Given the description of an element on the screen output the (x, y) to click on. 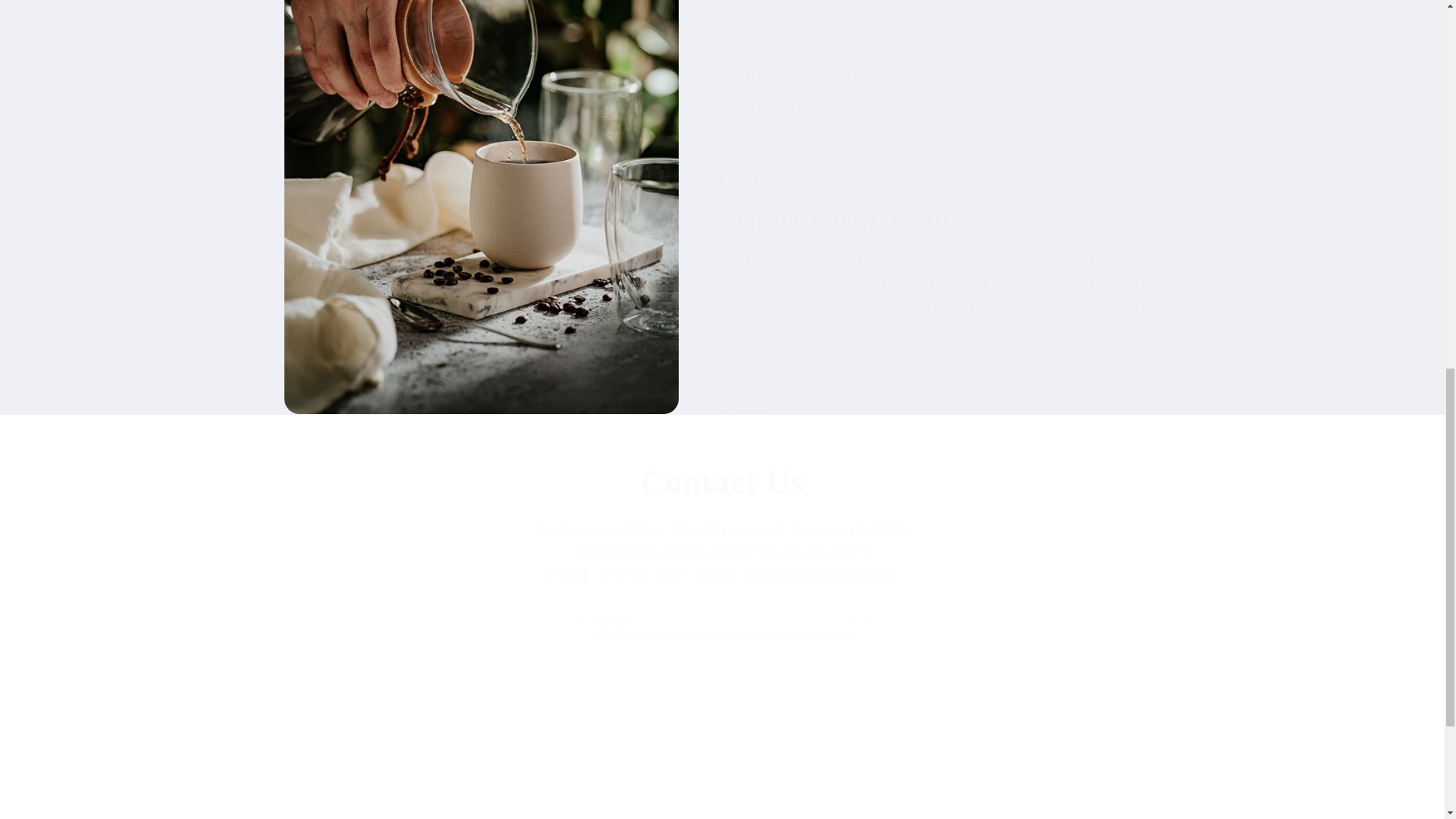
Contact Us (722, 482)
Email (422, 764)
